Given the description of an element on the screen output the (x, y) to click on. 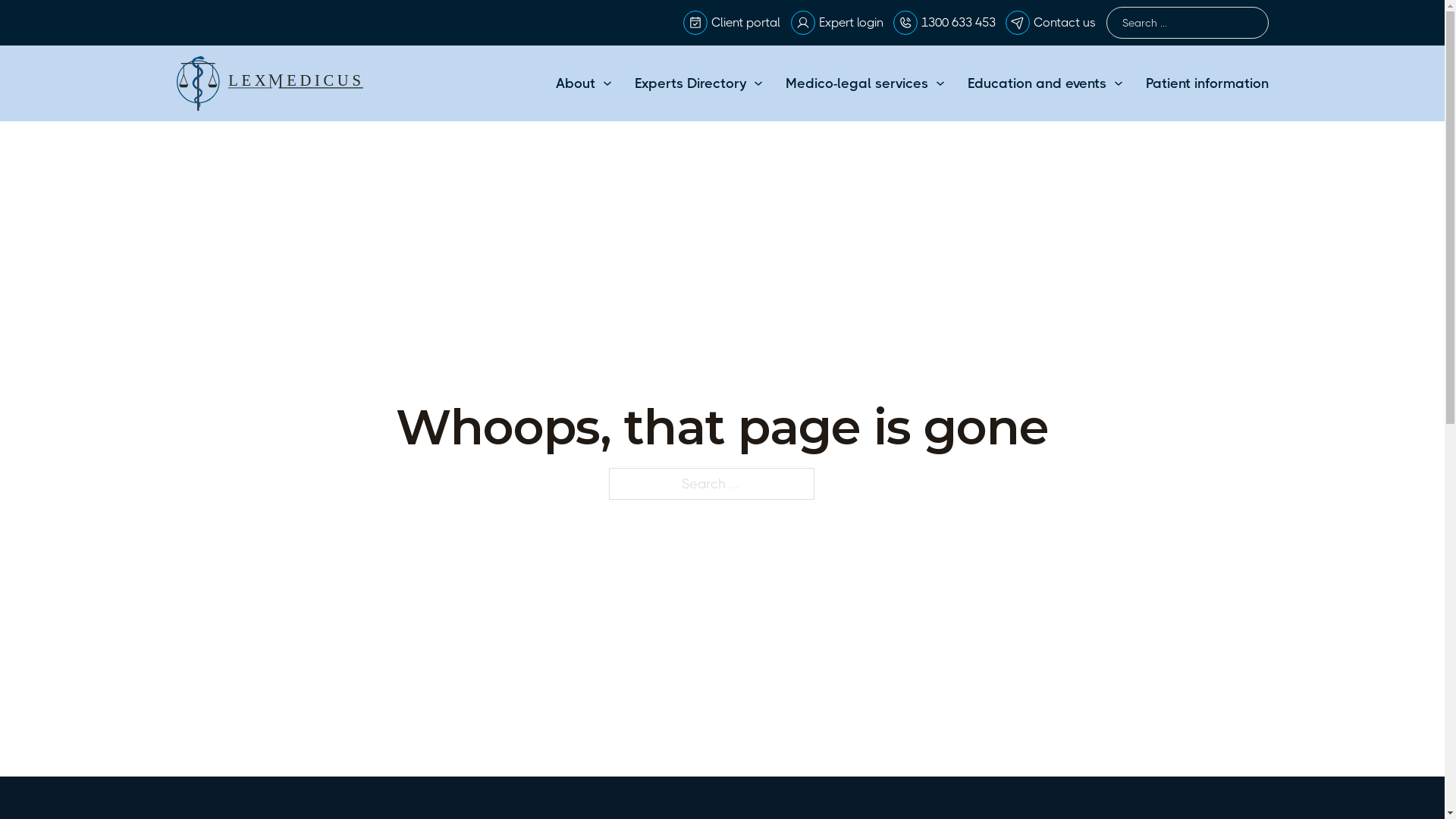
Client portal Element type: text (745, 22)
Expert login Element type: text (851, 22)
Contact us Element type: text (1064, 22)
About Element type: text (574, 82)
Education and events Element type: text (1036, 82)
Medico-legal services Element type: text (856, 82)
Patient information Element type: text (1206, 82)
Experts Directory Element type: text (689, 82)
1300 633 453 Element type: text (958, 22)
